Given the description of an element on the screen output the (x, y) to click on. 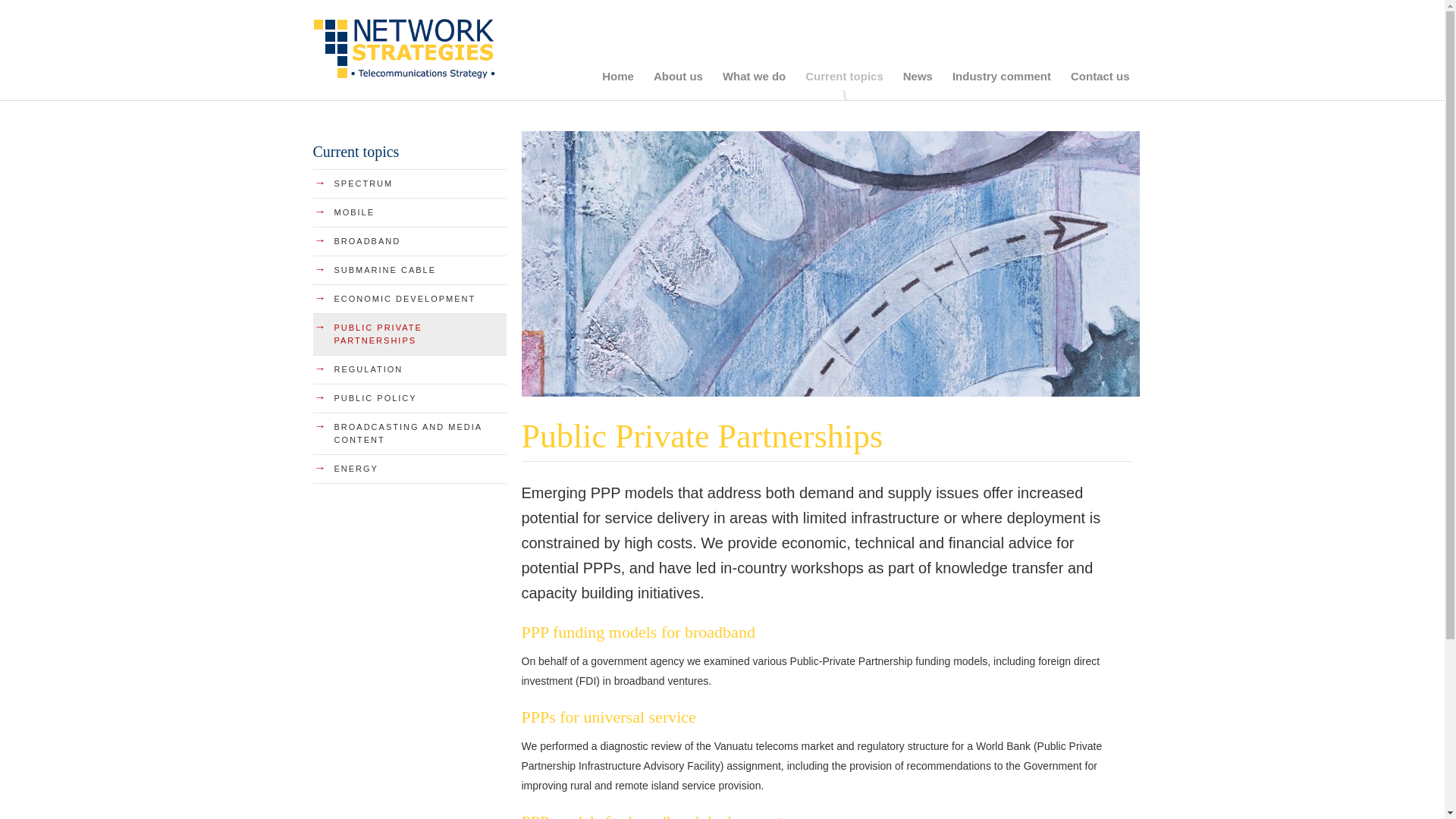
Go to the Mobile page (409, 212)
What we do (754, 76)
Contact us (1099, 76)
Go to the Submarine cable page (409, 270)
Go to the Economic development page (409, 298)
About us (678, 76)
Current topics (844, 76)
Industry comment (1001, 76)
Current topics (844, 76)
About us (678, 76)
